Given the description of an element on the screen output the (x, y) to click on. 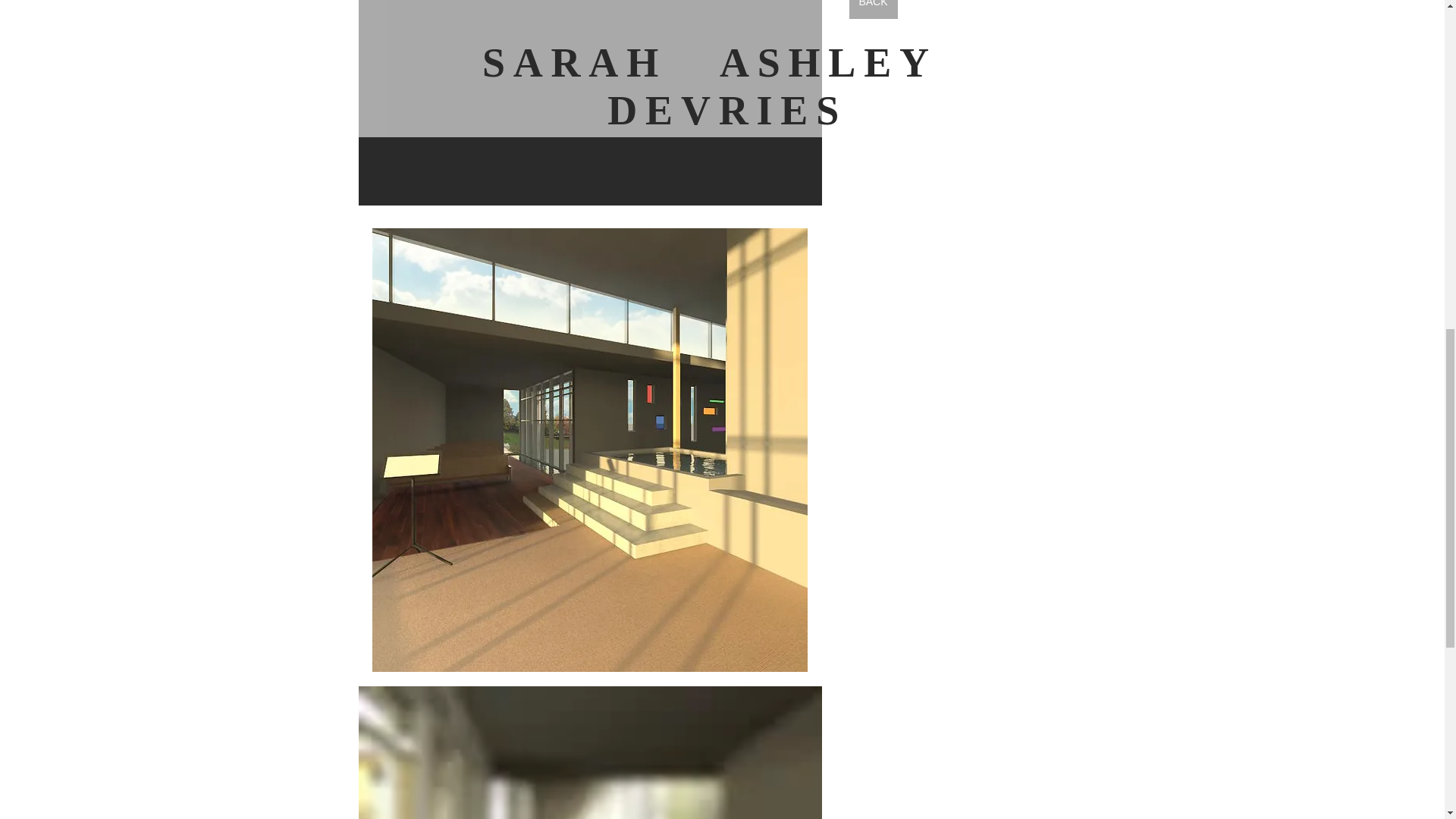
BACK (873, 9)
